Given the description of an element on the screen output the (x, y) to click on. 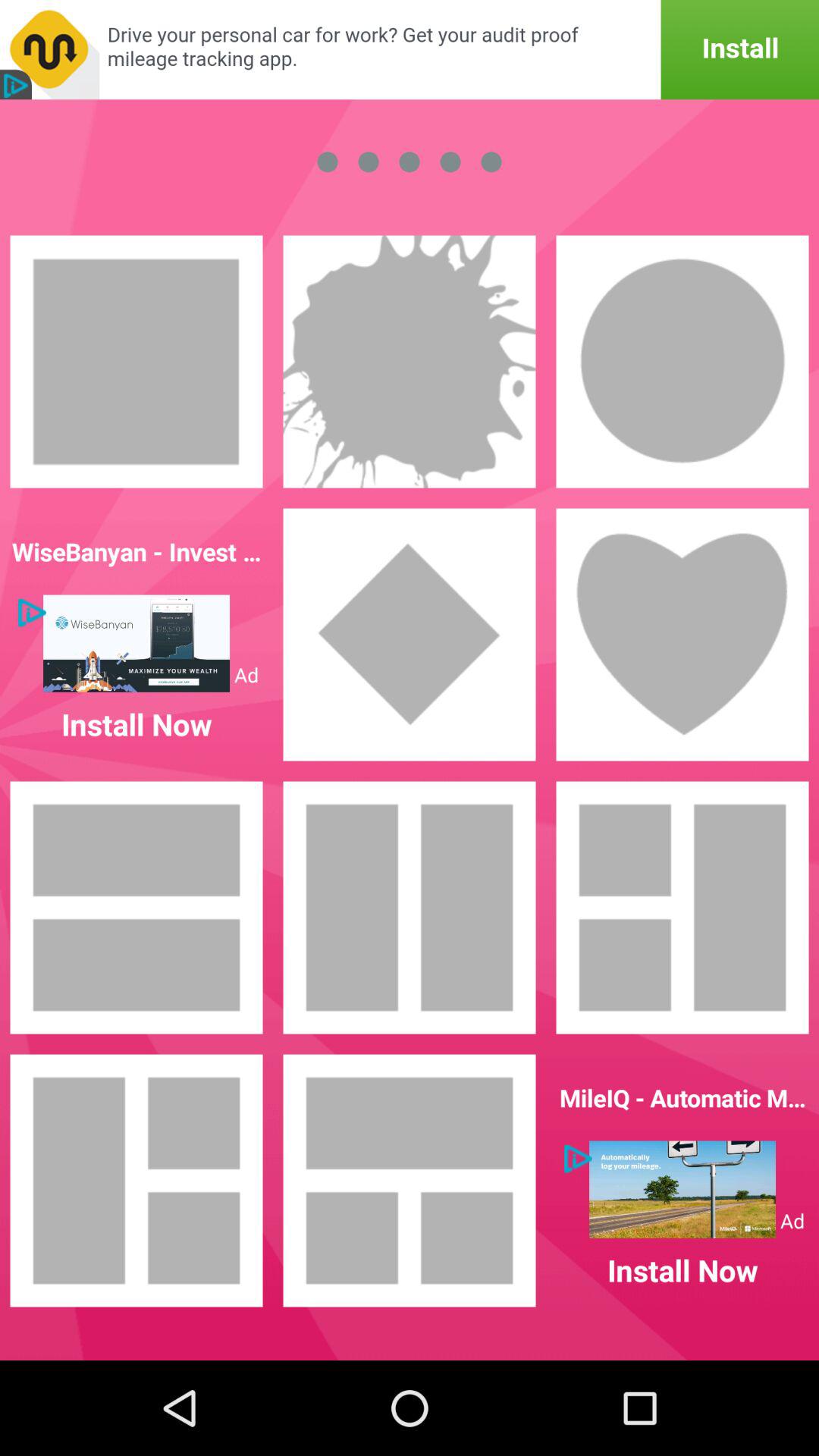
choose this shape (409, 634)
